Given the description of an element on the screen output the (x, y) to click on. 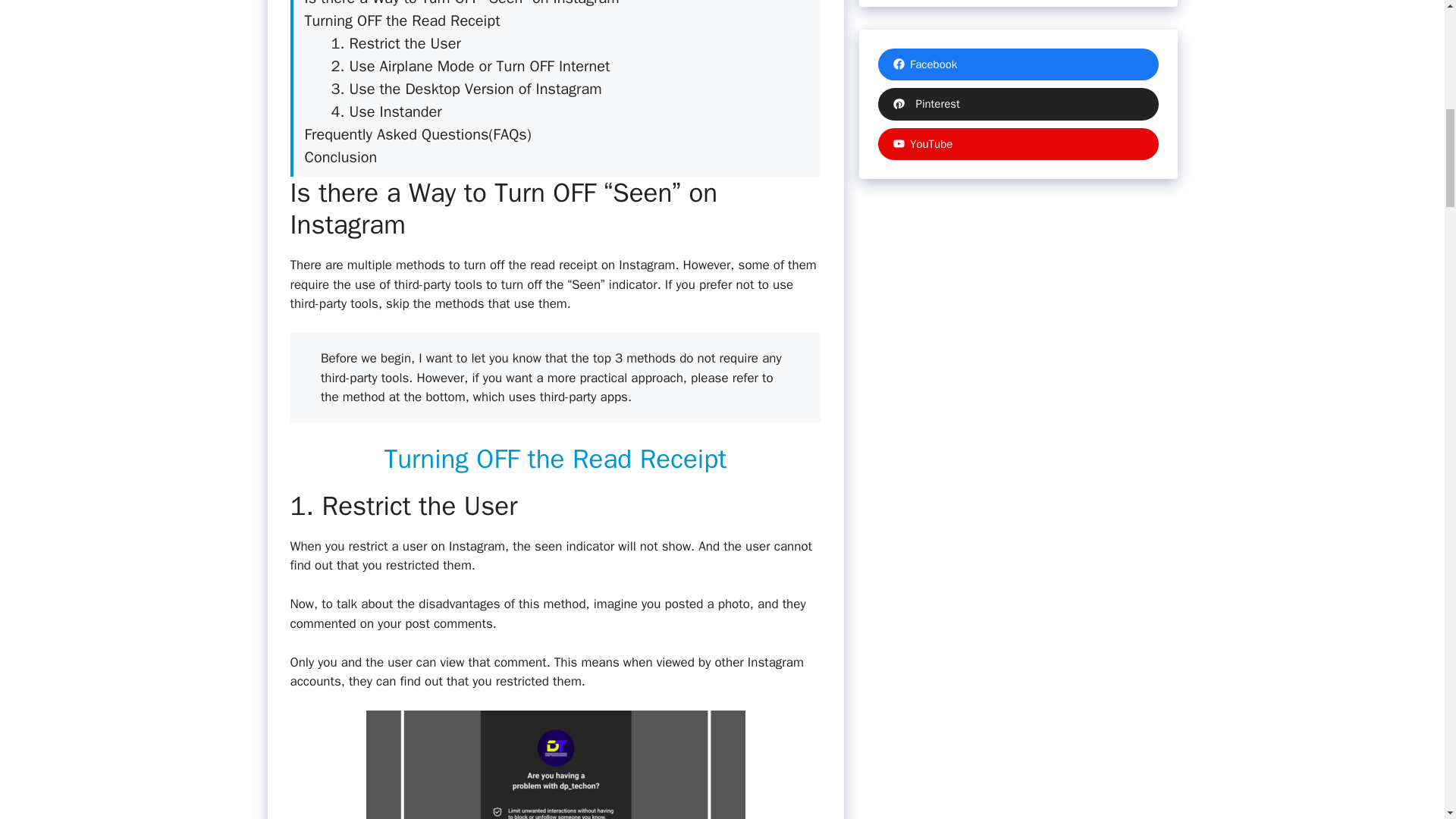
1. Restrict the User (395, 43)
2. Use Airplane Mode or Turn OFF Internet (470, 66)
Turning OFF the Read Receipt (402, 20)
4. Use Instander (385, 111)
3. Use the Desktop Version of Instagram (465, 88)
Conclusion (340, 157)
